Given the description of an element on the screen output the (x, y) to click on. 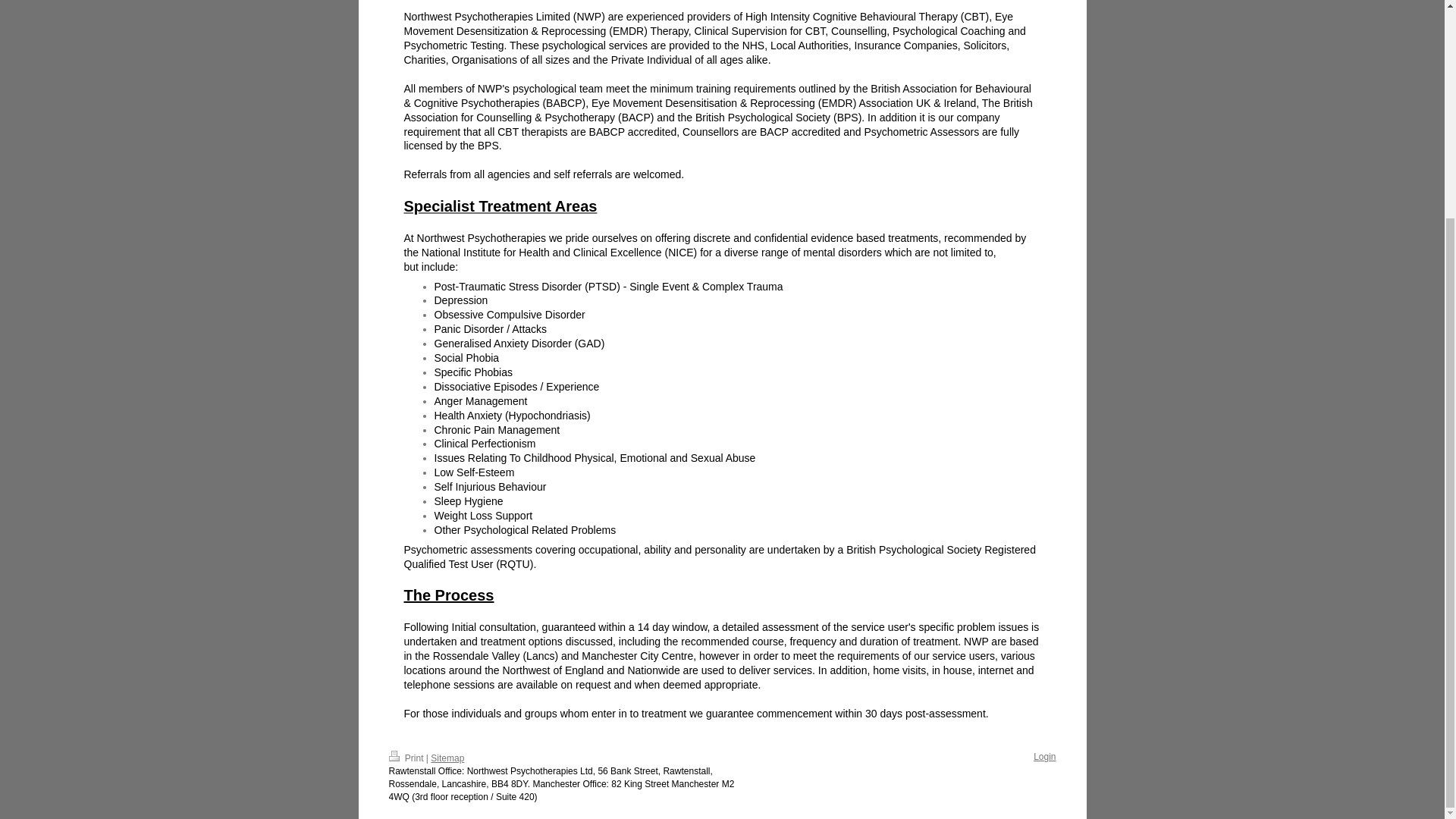
Print (406, 757)
Sitemap (447, 757)
Login (1044, 756)
